Given the description of an element on the screen output the (x, y) to click on. 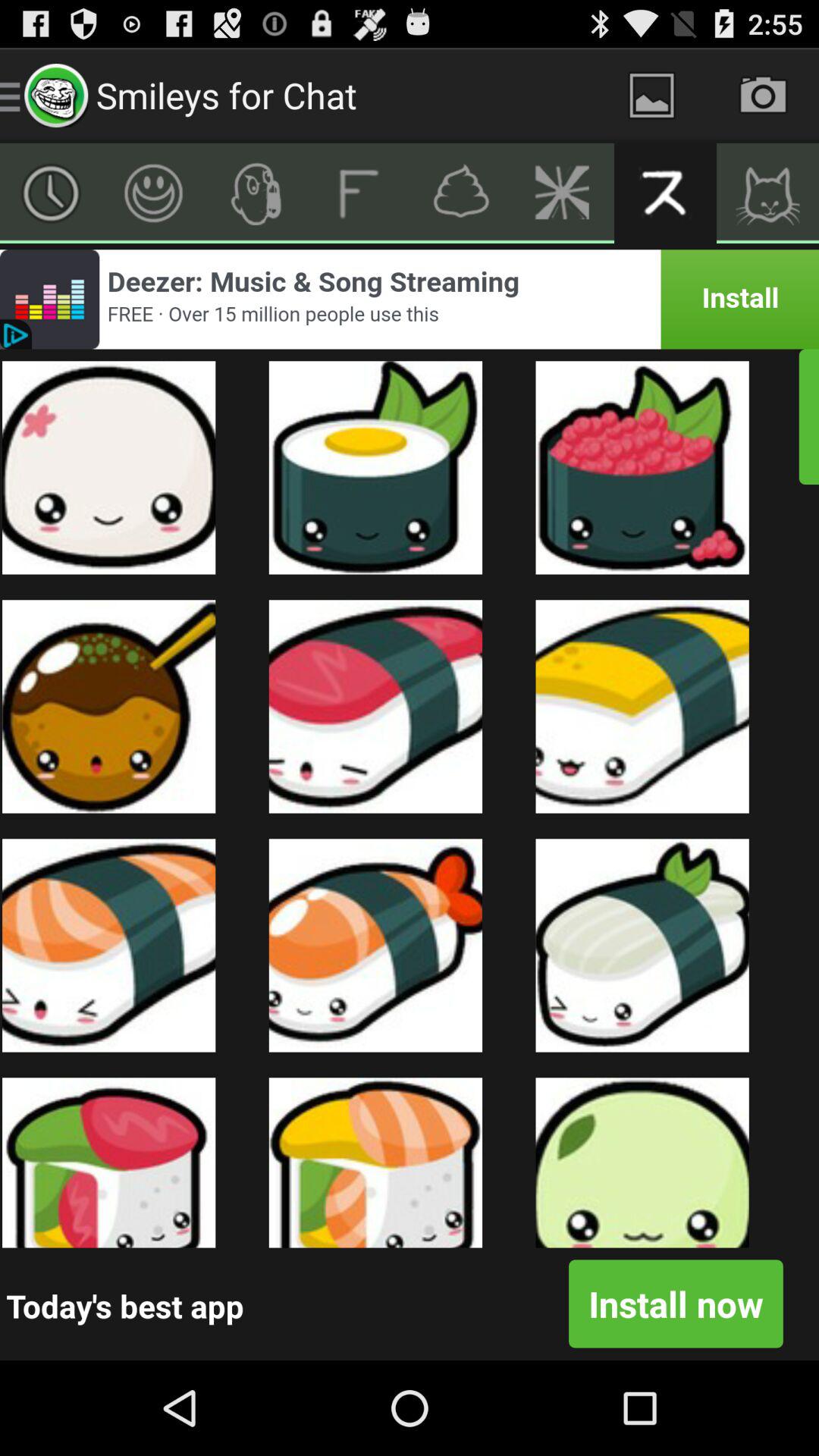
go to gallery (651, 95)
